Given the description of an element on the screen output the (x, y) to click on. 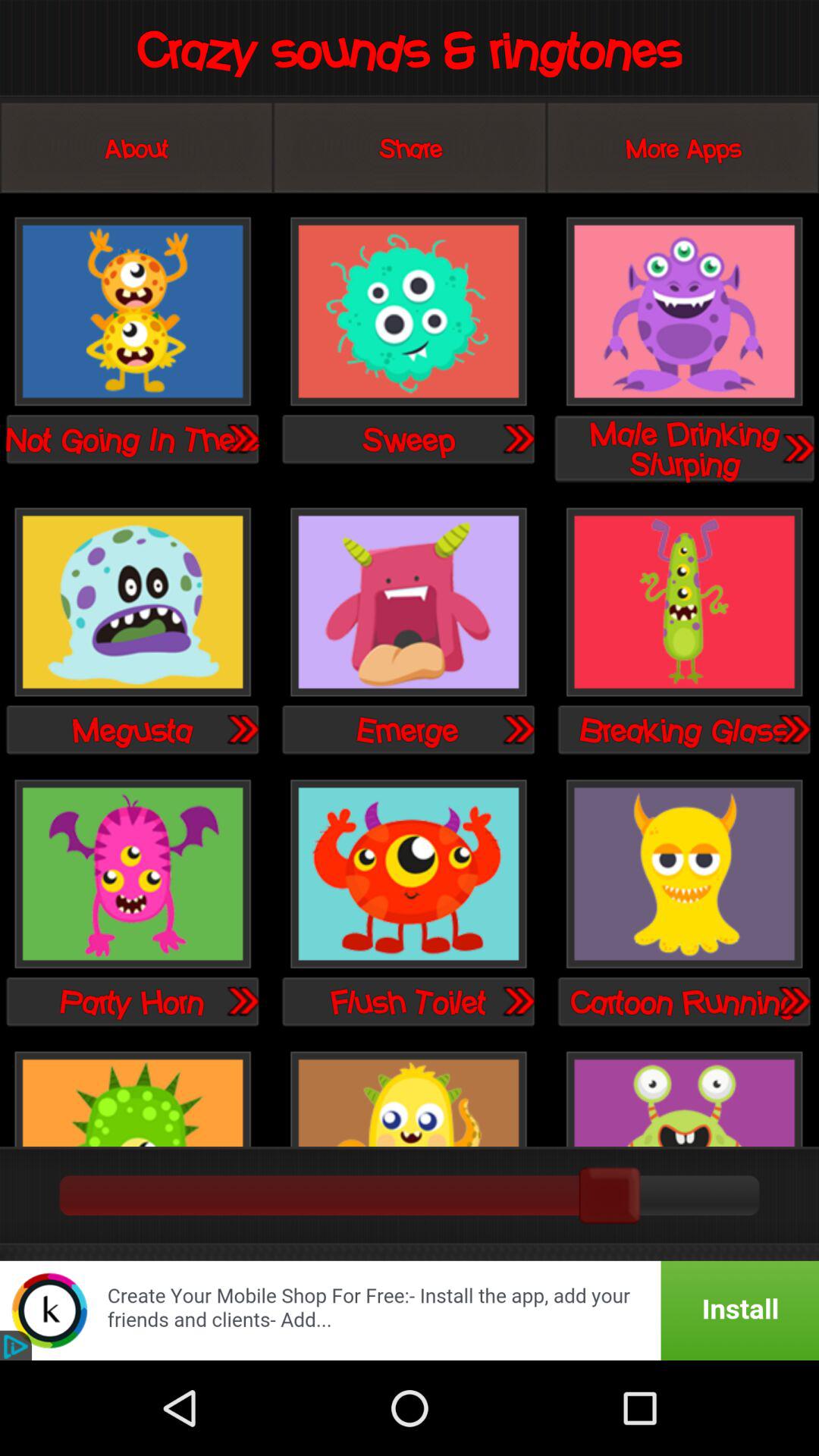
click on the party on option (132, 874)
